Given the description of an element on the screen output the (x, y) to click on. 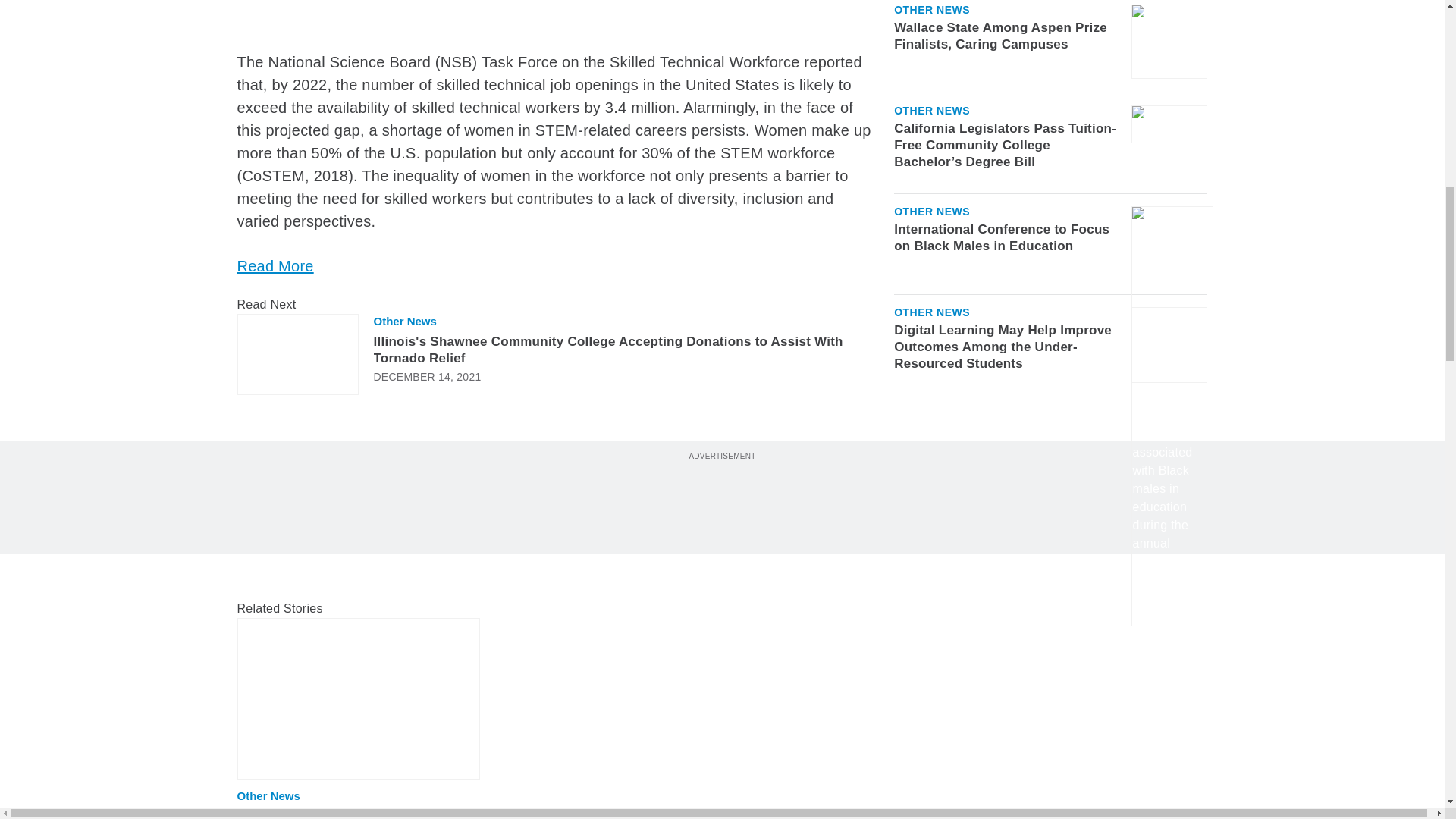
Other News (267, 795)
Other News (931, 71)
Other News (403, 321)
